Given the description of an element on the screen output the (x, y) to click on. 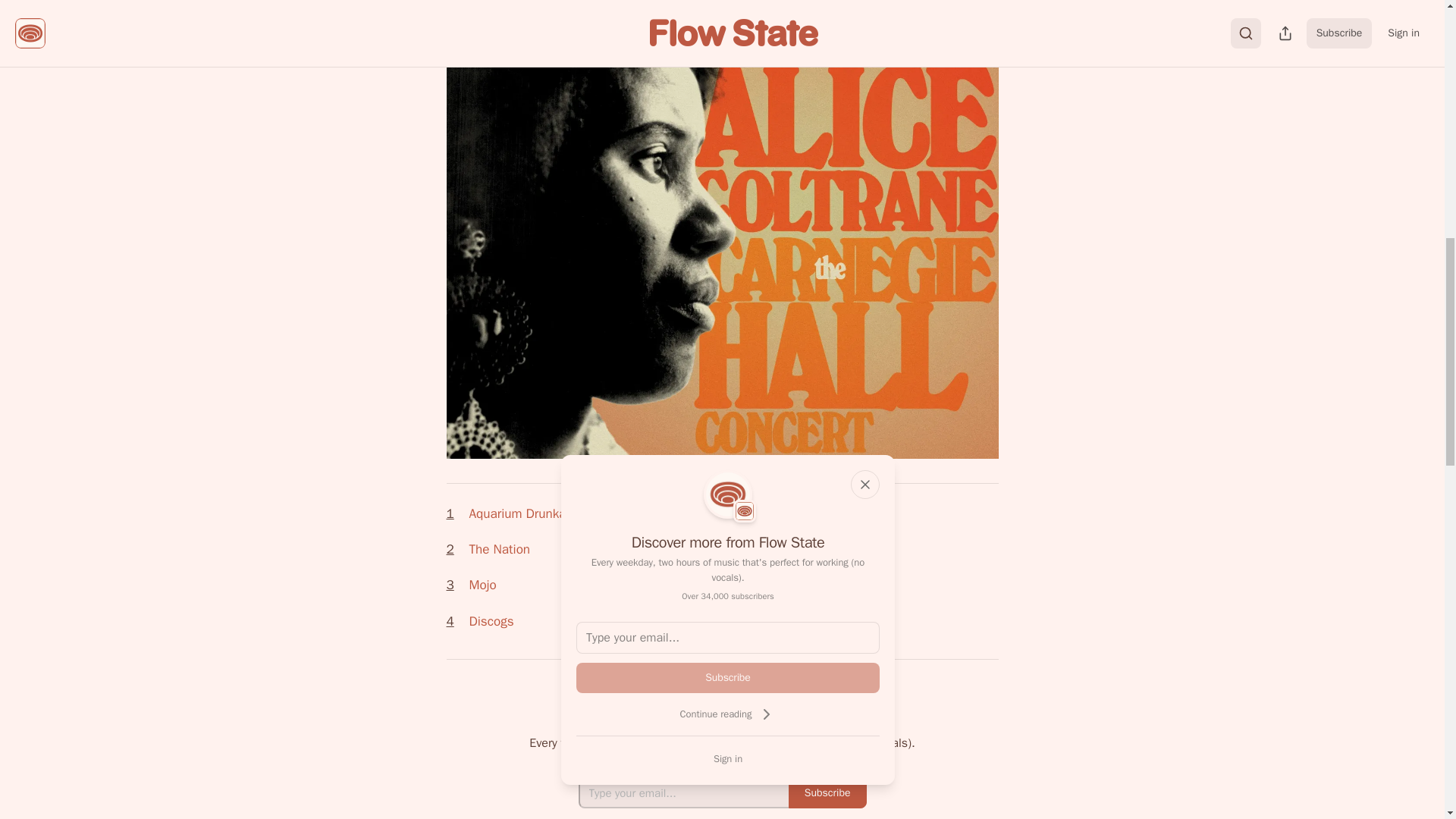
2 (454, 548)
Sign in (727, 758)
1 (454, 513)
Aquarium Drunkard (522, 513)
Subscribe (727, 677)
